Given the description of an element on the screen output the (x, y) to click on. 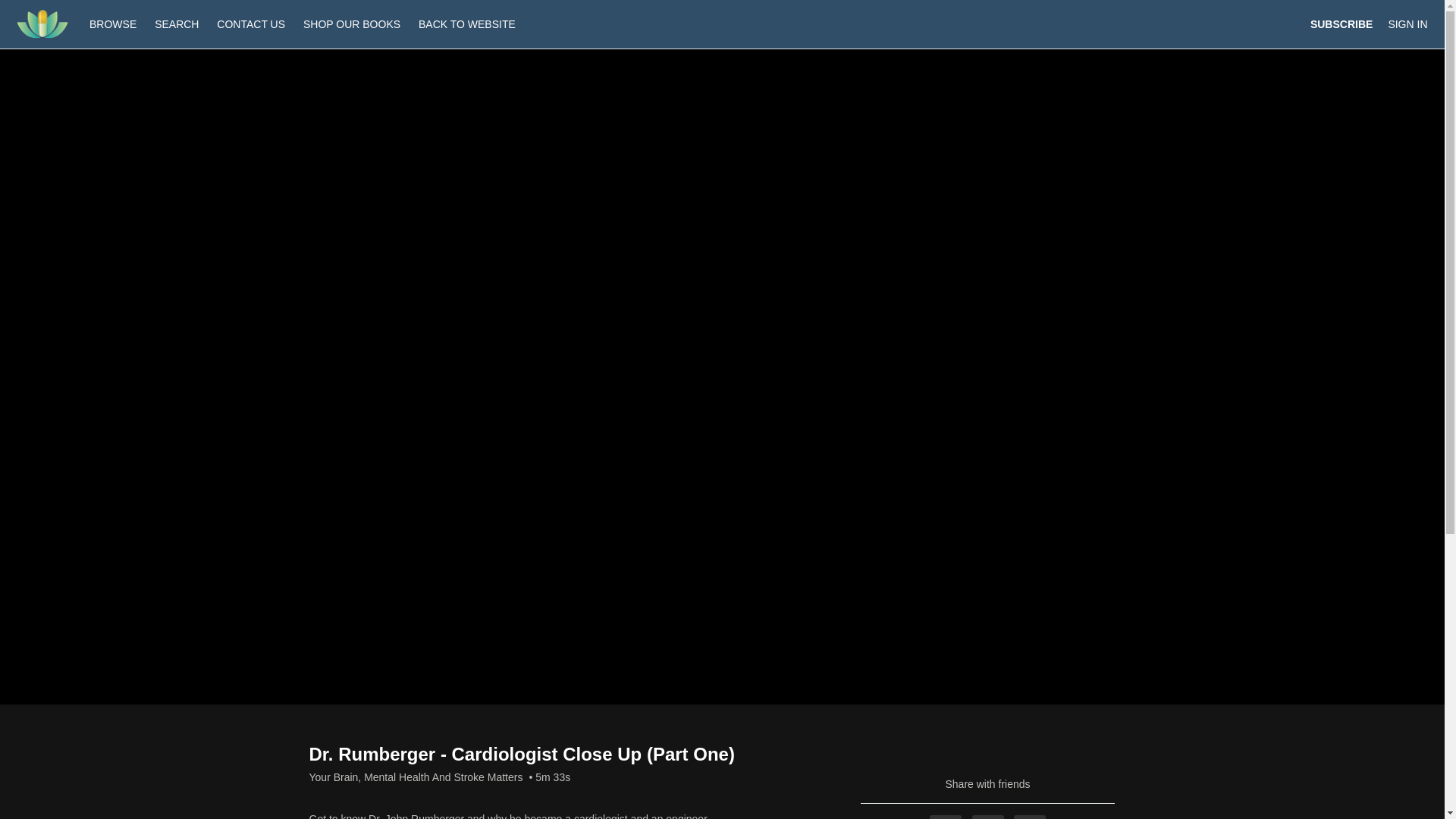
Skip to main content (48, 7)
Your Brain, Mental Health And Stroke Matters (415, 776)
CONTACT US (250, 24)
SEARCH (178, 24)
BACK TO WEBSITE (466, 24)
SHOP OUR BOOKS (351, 24)
Facebook (945, 816)
BROWSE (114, 24)
Twitter (988, 816)
SUBSCRIBE (1341, 24)
SIGN IN (1406, 24)
Email (1029, 816)
